Given the description of an element on the screen output the (x, y) to click on. 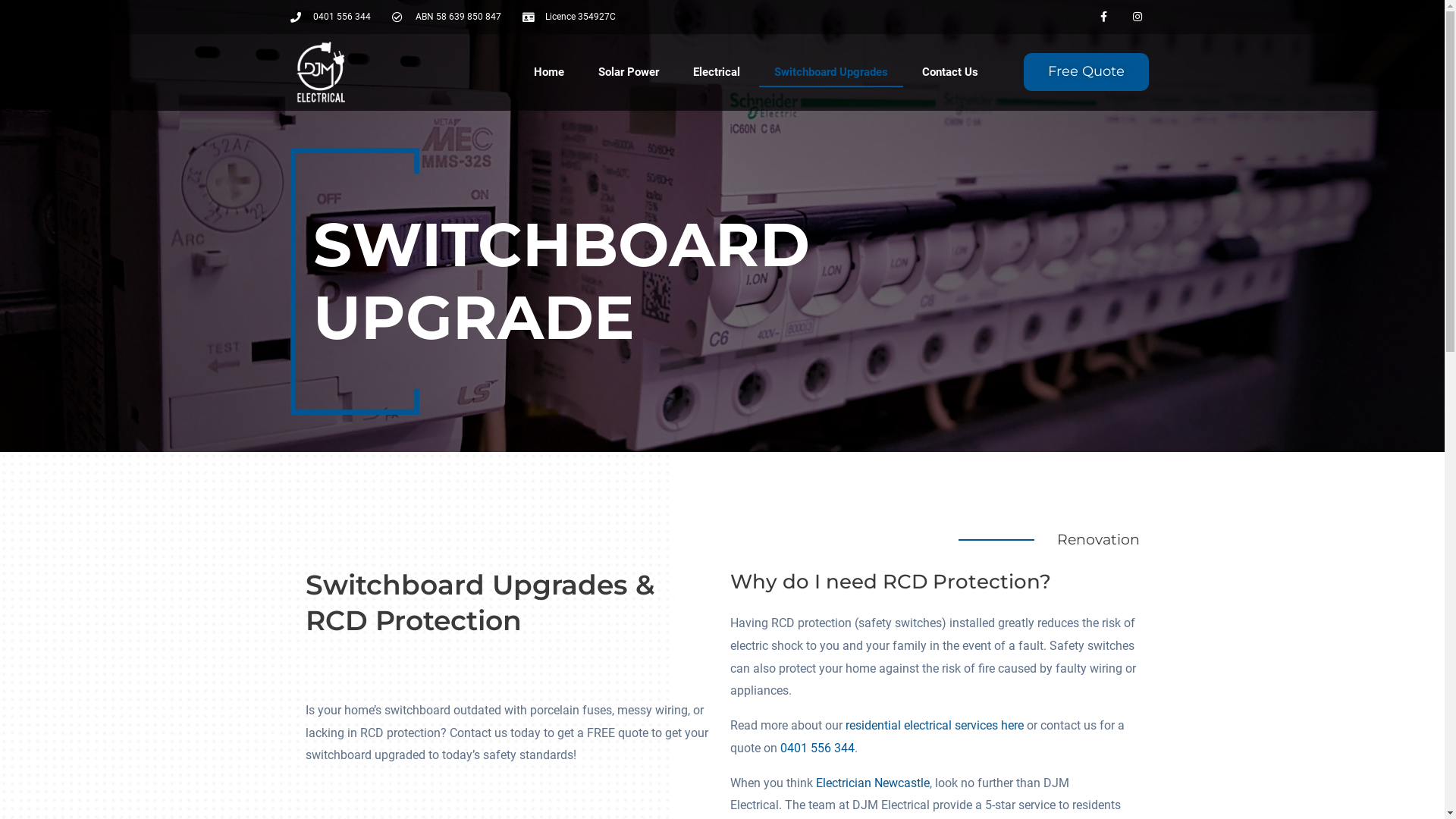
0401 556 344 Element type: text (816, 747)
Contact Us Element type: text (949, 71)
Home Element type: text (548, 71)
Solar Power Element type: text (628, 71)
Free Quote Element type: text (1085, 71)
Electrical Element type: text (716, 71)
0401 556 344 Element type: text (329, 16)
residential electrical services here Element type: text (933, 725)
Electrician Newcastle Element type: text (872, 782)
Switchboard Upgrades Element type: text (831, 71)
